Given the description of an element on the screen output the (x, y) to click on. 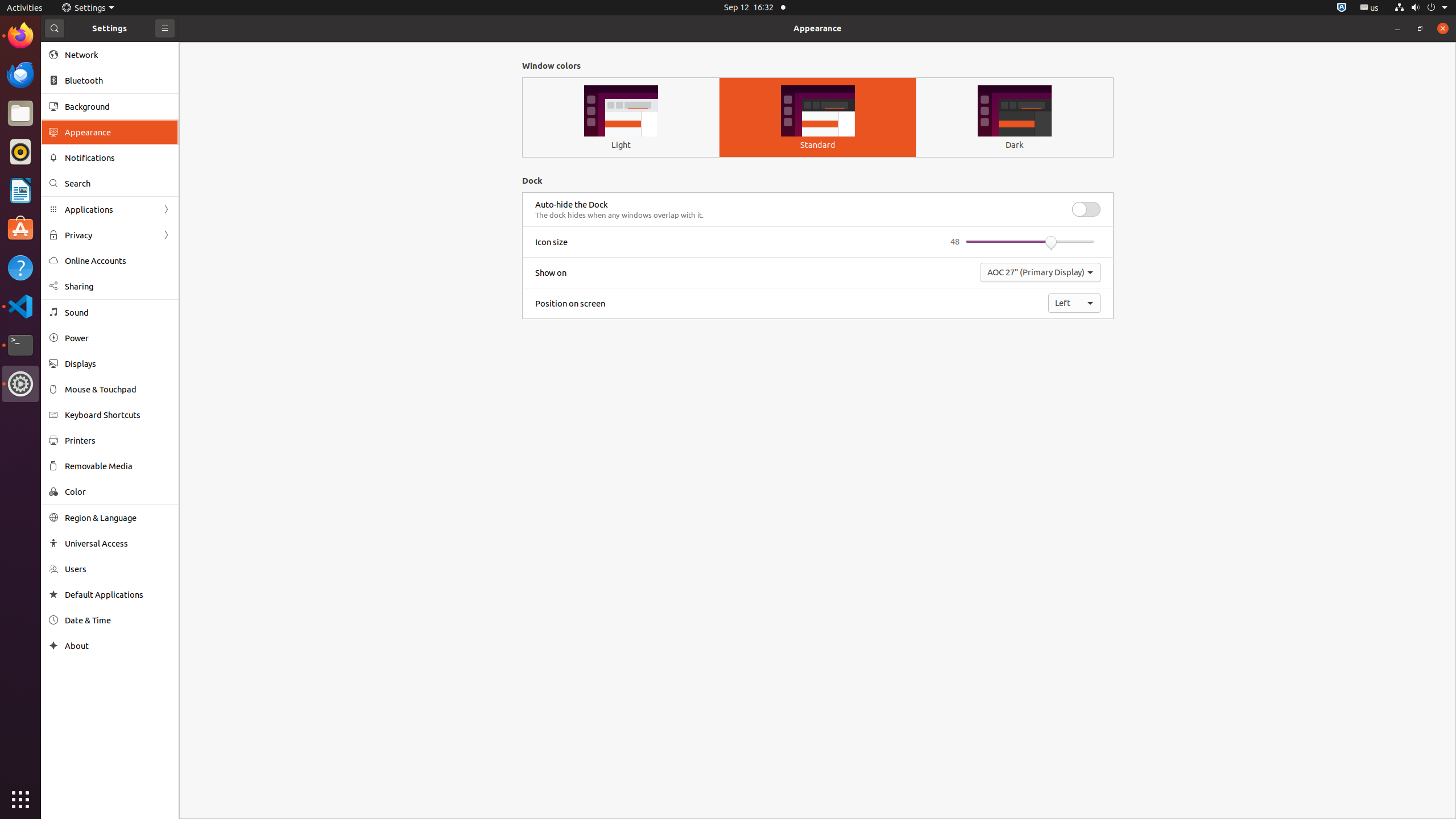
Sharing Element type: label (117, 286)
The dock hides when any windows overlap with it. Element type: label (619, 214)
Printers Element type: label (117, 440)
Privacy Element type: label (109, 235)
Mouse & Touchpad Element type: label (117, 389)
